Given the description of an element on the screen output the (x, y) to click on. 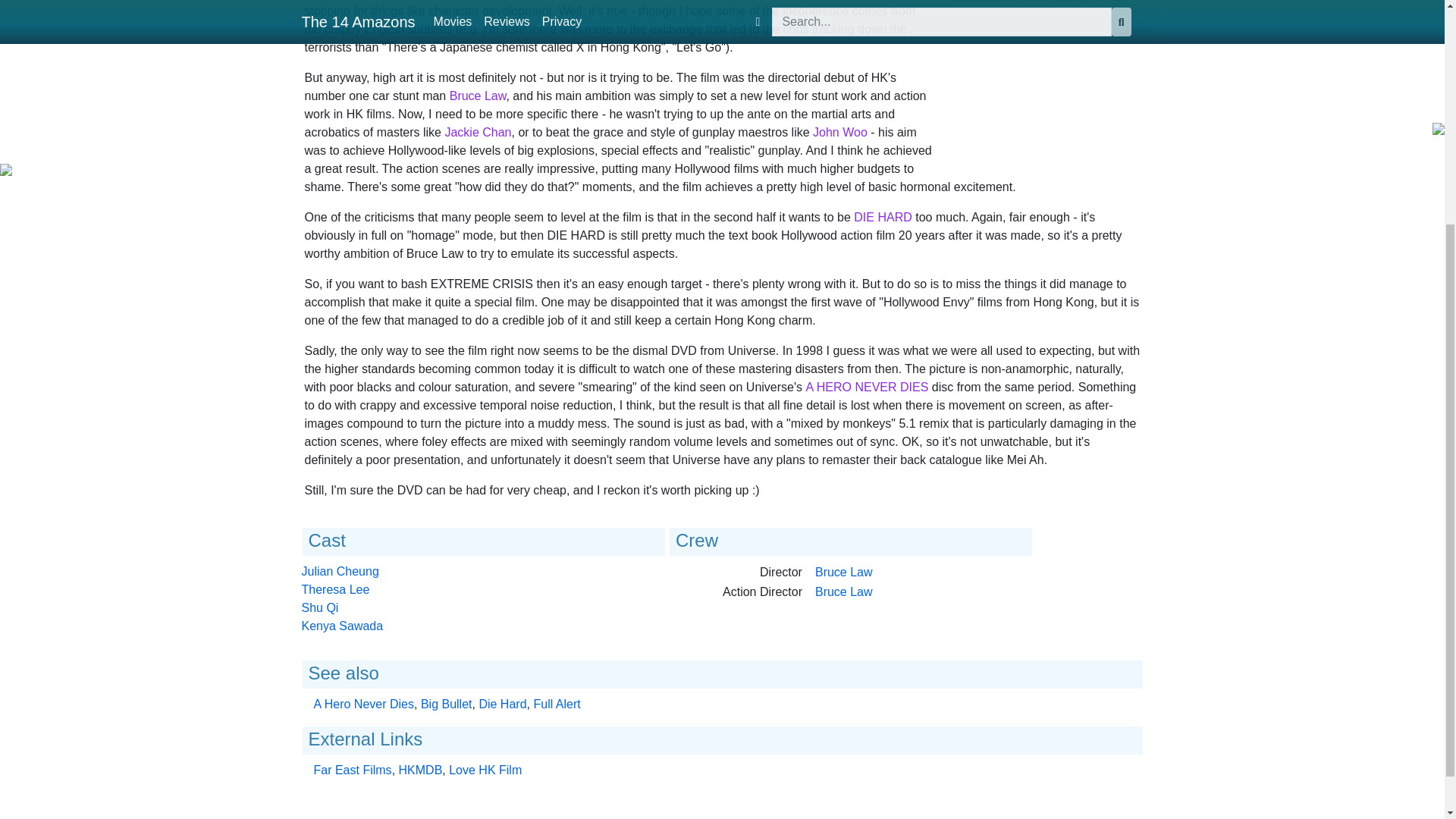
Julian Cheung (339, 571)
Bruce Law (843, 571)
Far East Films (352, 769)
A Hero Never Dies (364, 703)
Love HK Film (484, 769)
Big Bullet (445, 703)
Theresa Lee (335, 589)
Die Hard (502, 703)
Kenya Sawada (342, 625)
Full Alert (555, 703)
